Given the description of an element on the screen output the (x, y) to click on. 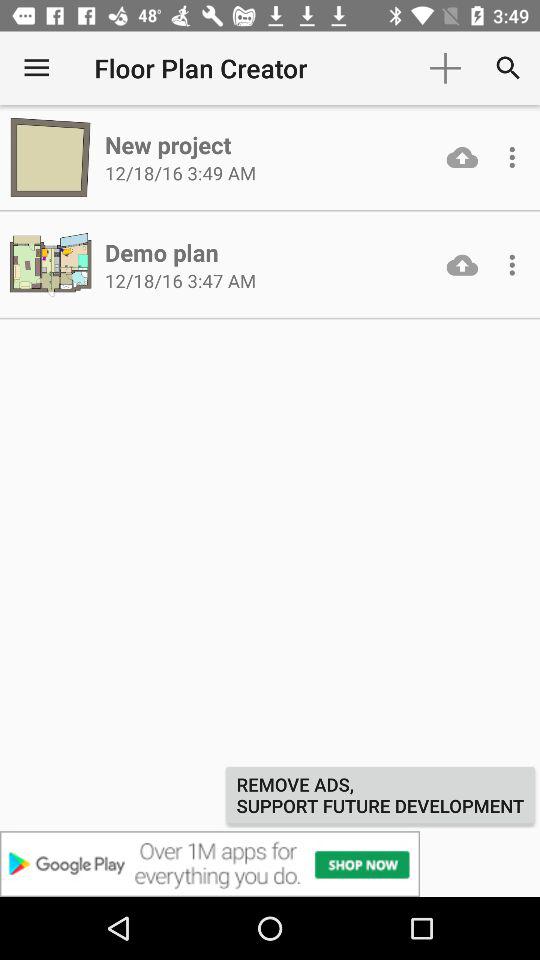
click to show details (512, 157)
